Given the description of an element on the screen output the (x, y) to click on. 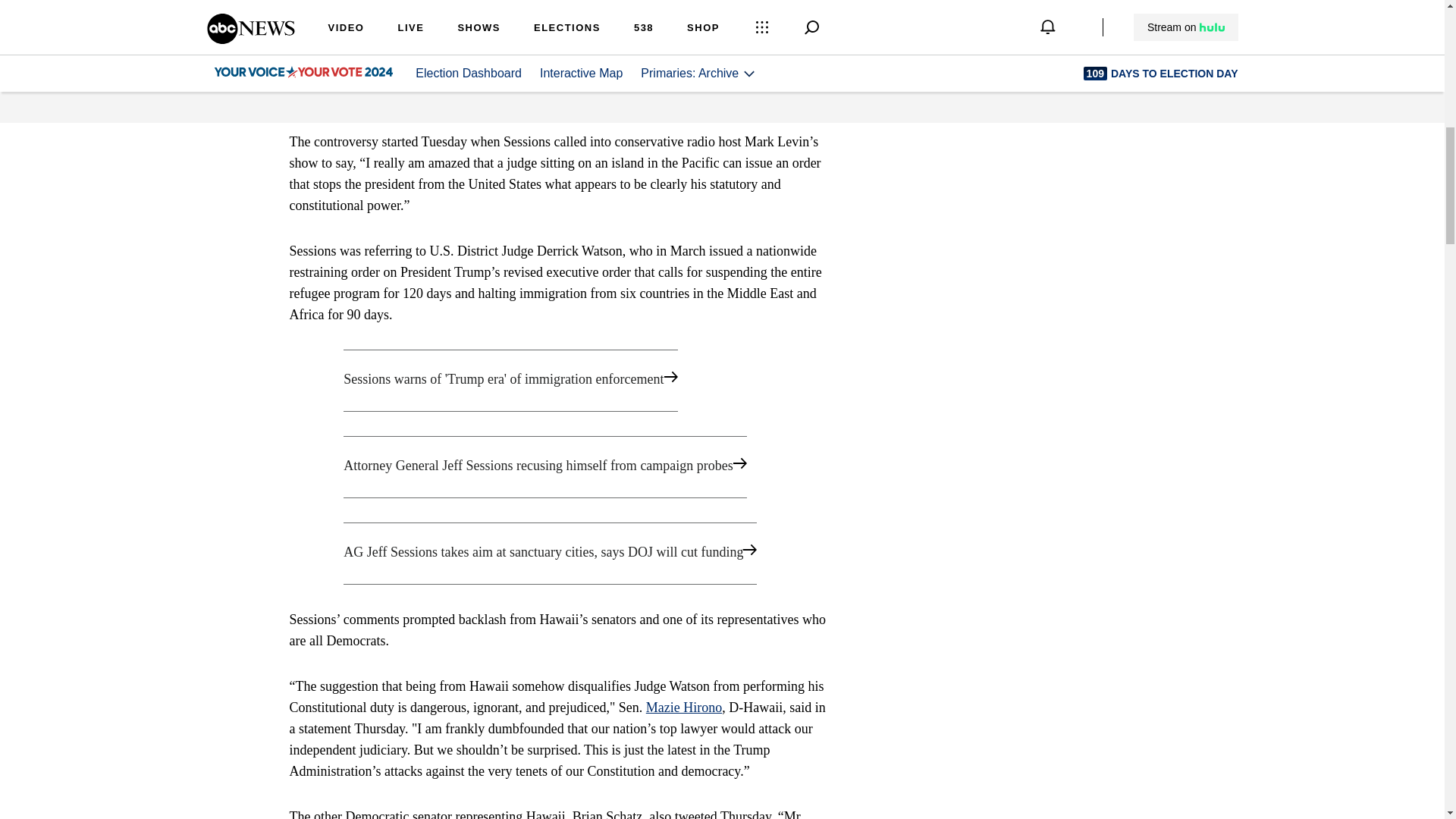
President Trump (381, 7)
Sessions warns of 'Trump era' of immigration enforcement (560, 380)
Mazie Hirono (684, 707)
